Given the description of an element on the screen output the (x, y) to click on. 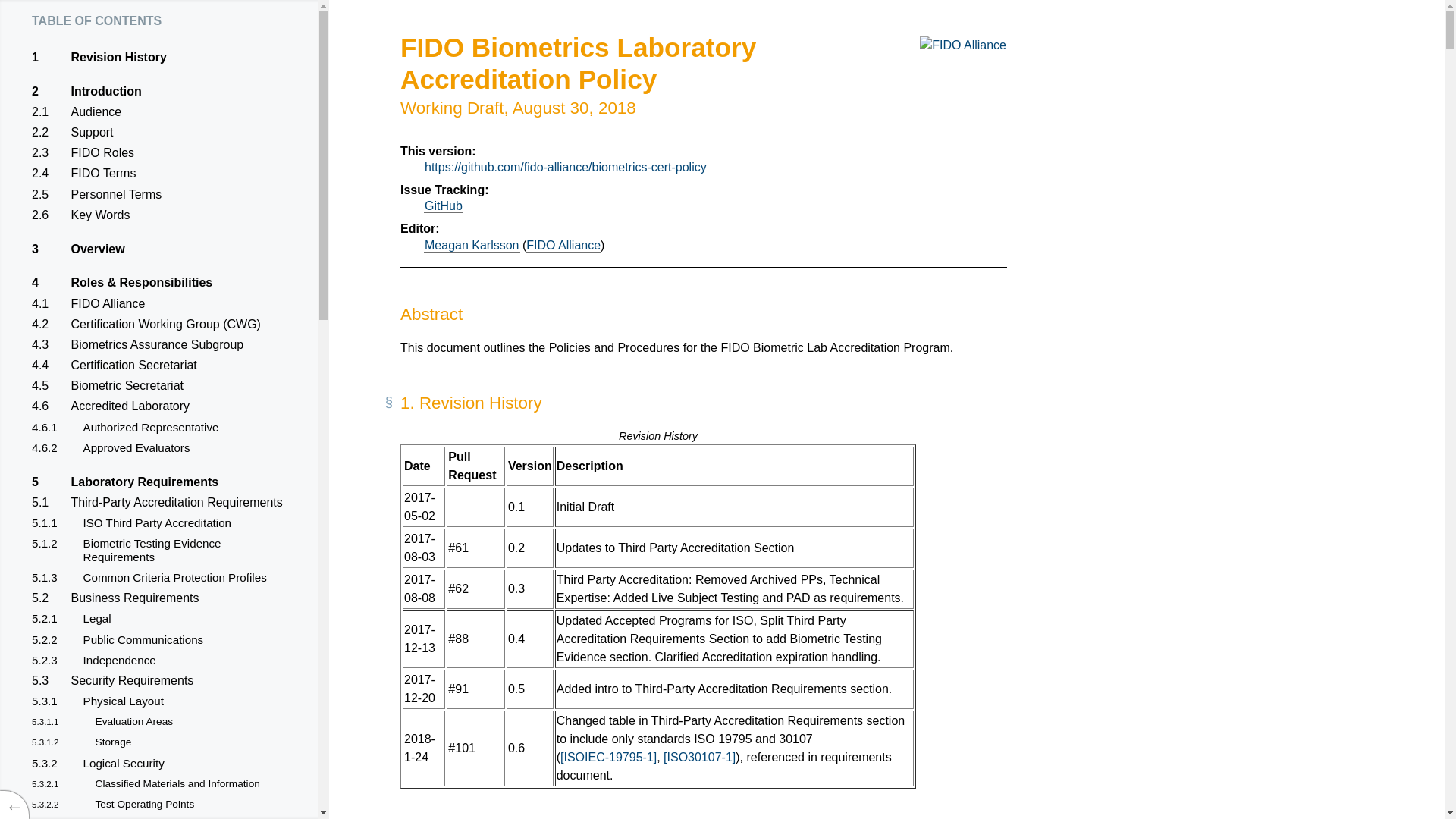
FIDO Alliance (563, 245)
GitHub (443, 205)
Meagan Karlsson (471, 245)
